Given the description of an element on the screen output the (x, y) to click on. 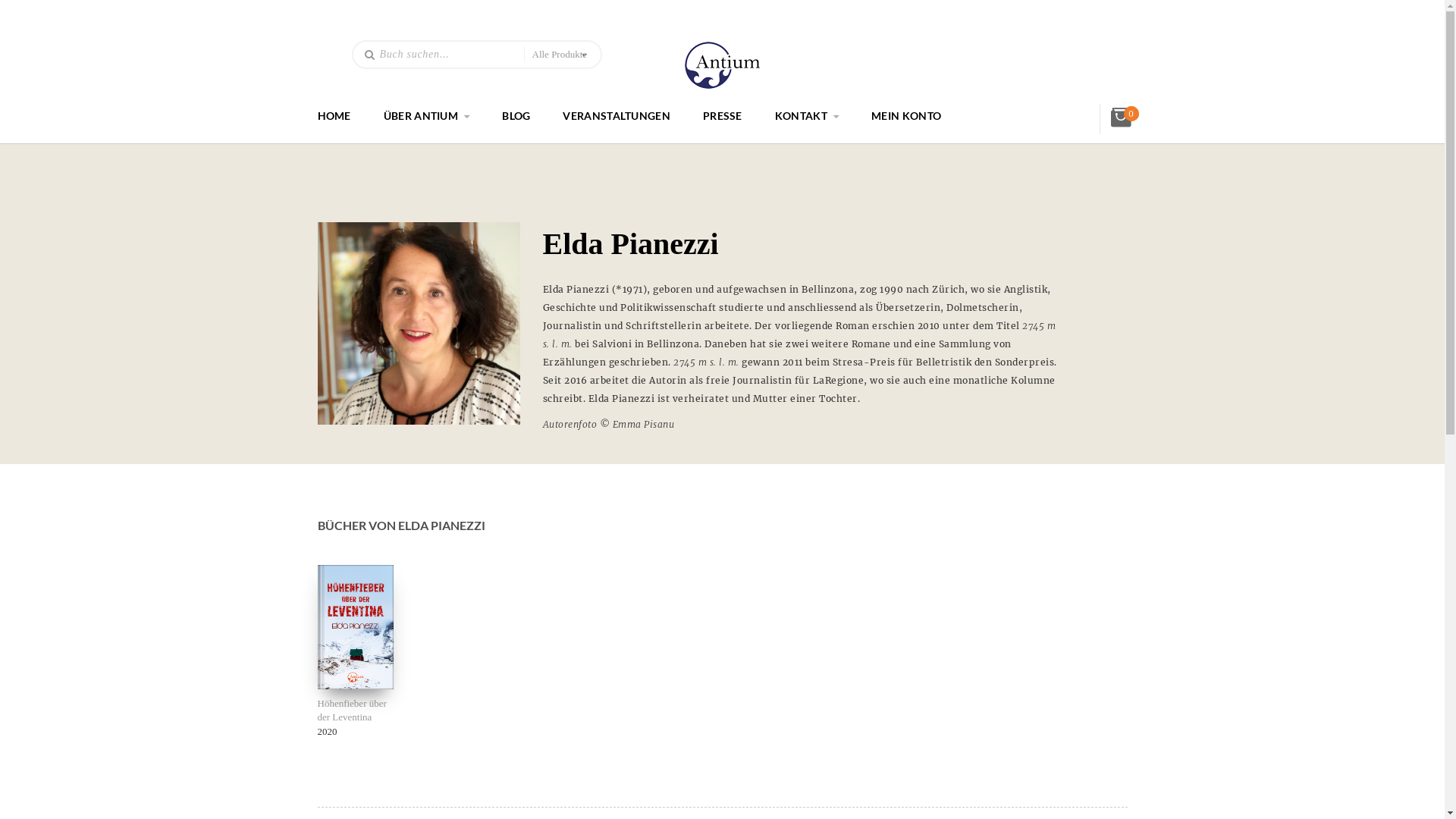
HOME Element type: text (333, 115)
MEIN KONTO Element type: text (906, 115)
Alle Produkte Element type: text (558, 54)
VERANSTALTUNGEN Element type: text (616, 115)
KONTAKT Element type: text (801, 115)
0 Element type: text (1131, 113)
BLOG Element type: text (516, 115)
PRESSE Element type: text (722, 115)
